Given the description of an element on the screen output the (x, y) to click on. 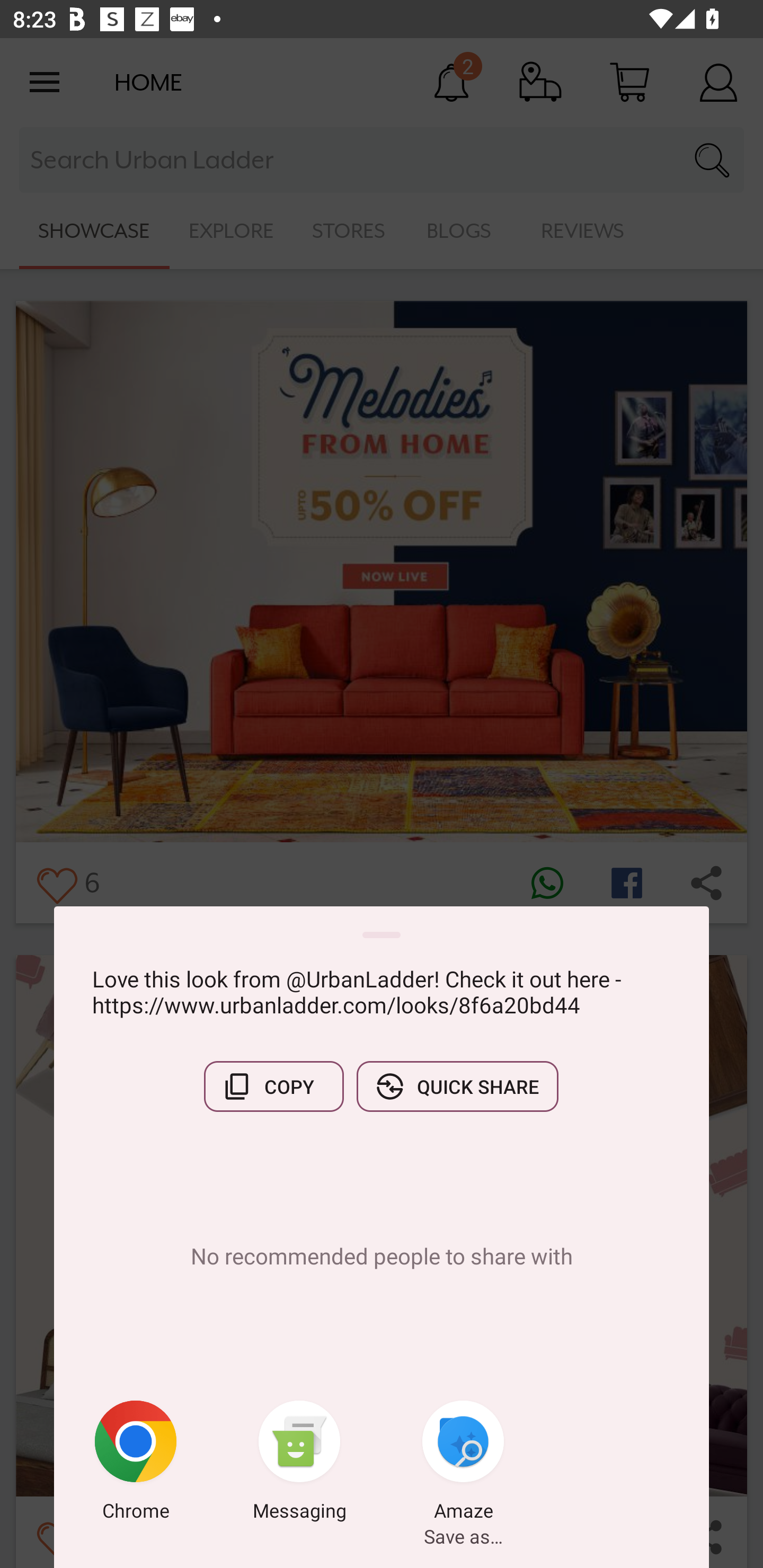
COPY (273, 1086)
QUICK SHARE (457, 1086)
Chrome (135, 1463)
Messaging (299, 1463)
Amaze Save as… (463, 1463)
